Given the description of an element on the screen output the (x, y) to click on. 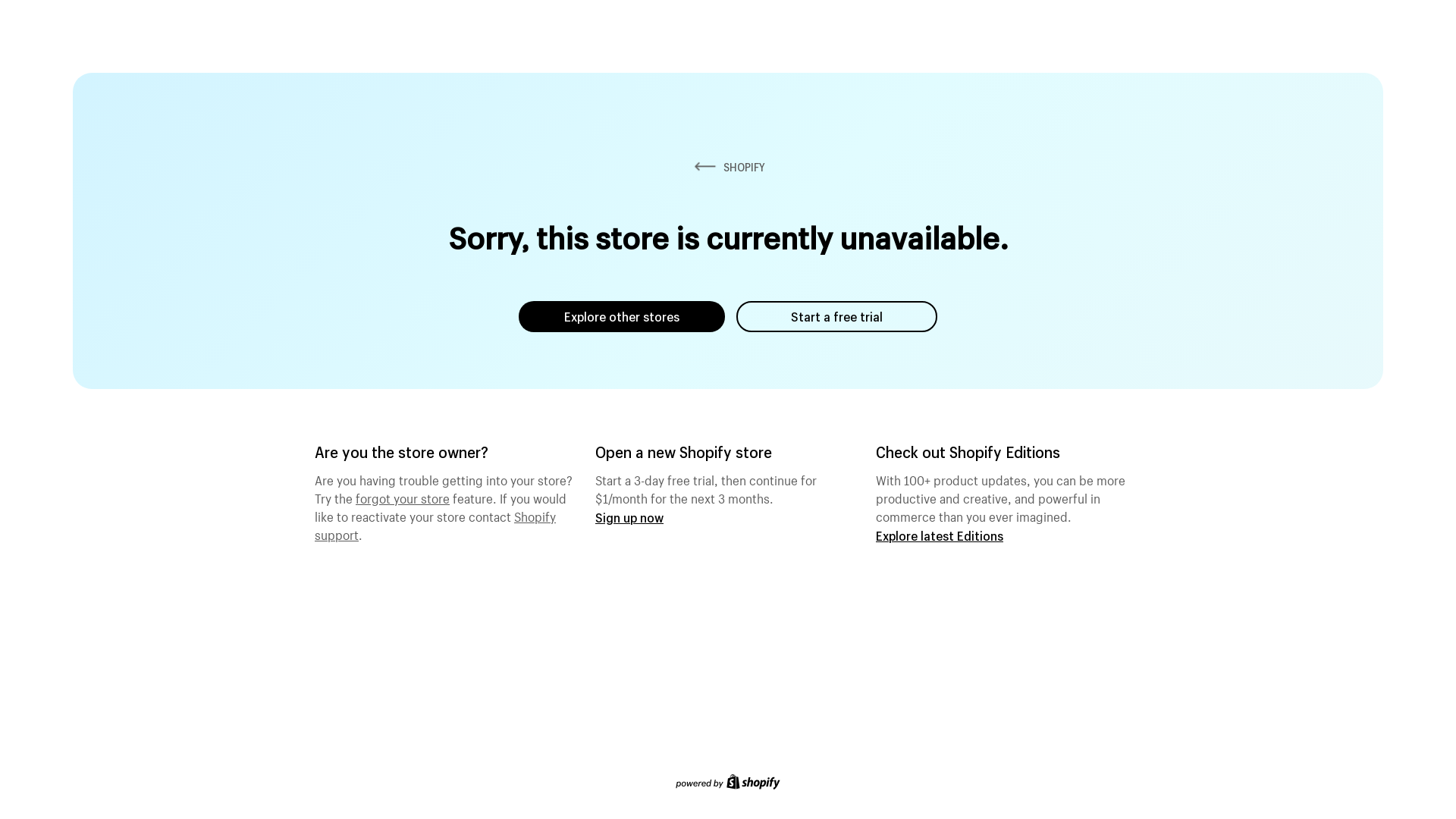
Shopify support Element type: text (434, 523)
Explore latest Editions Element type: text (939, 535)
forgot your store Element type: text (402, 496)
Start a free trial Element type: text (836, 316)
Explore other stores Element type: text (621, 316)
SHOPIFY Element type: text (727, 167)
Sign up now Element type: text (629, 517)
